Given the description of an element on the screen output the (x, y) to click on. 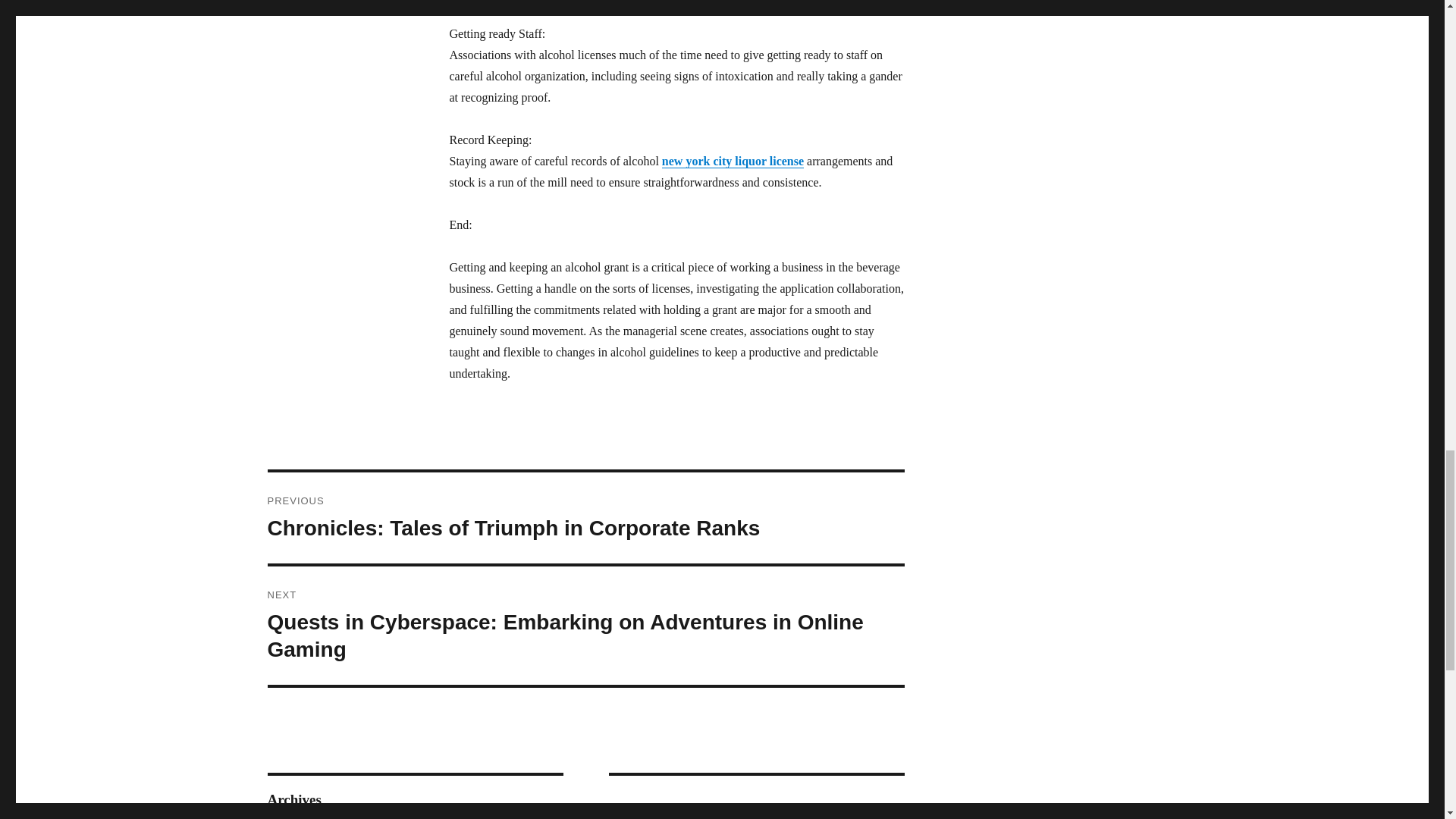
new york city liquor license (732, 160)
